Given the description of an element on the screen output the (x, y) to click on. 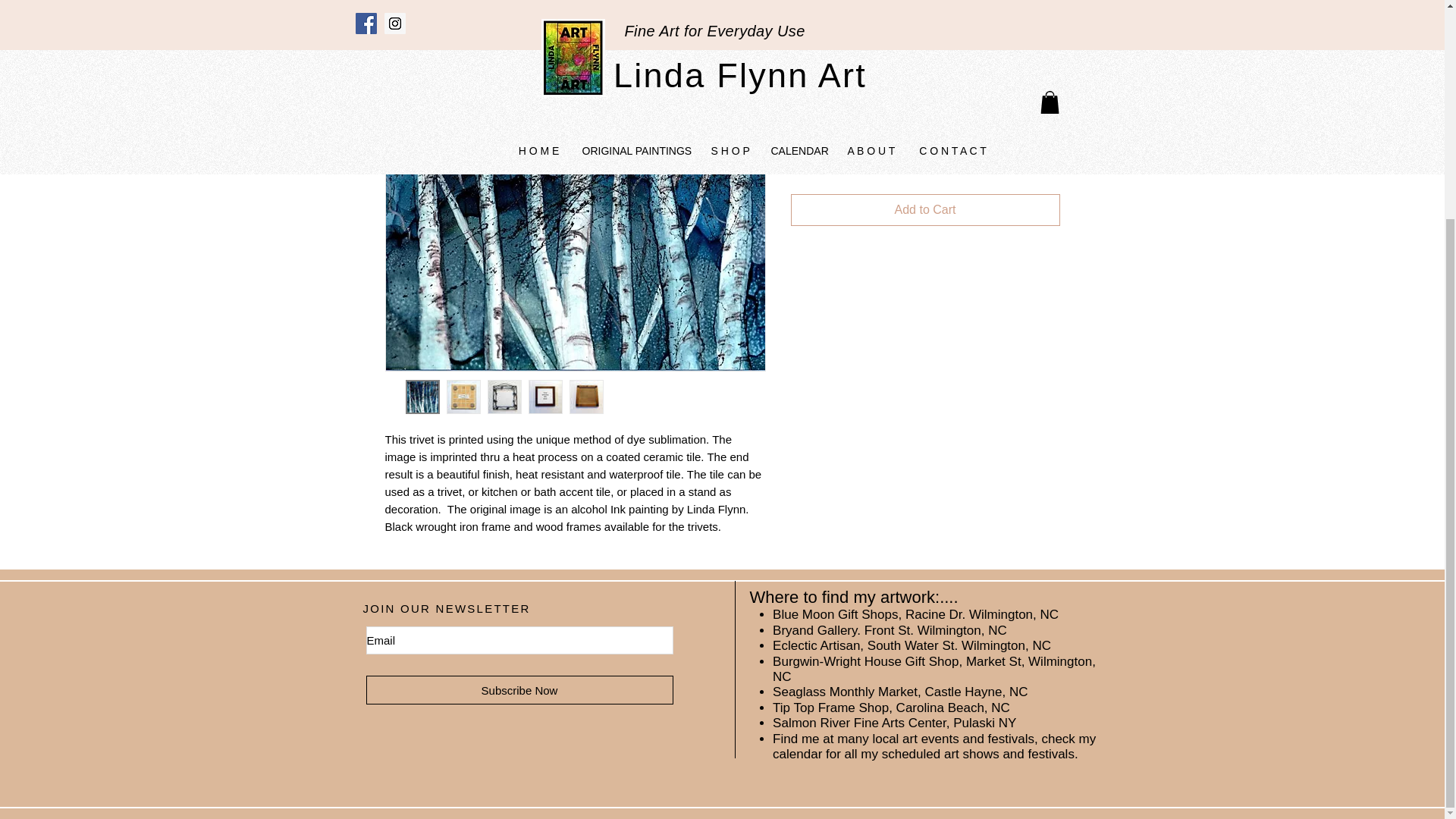
Add to Cart (924, 210)
Select (924, 87)
1 (818, 153)
Subscribe Now (518, 689)
